Given the description of an element on the screen output the (x, y) to click on. 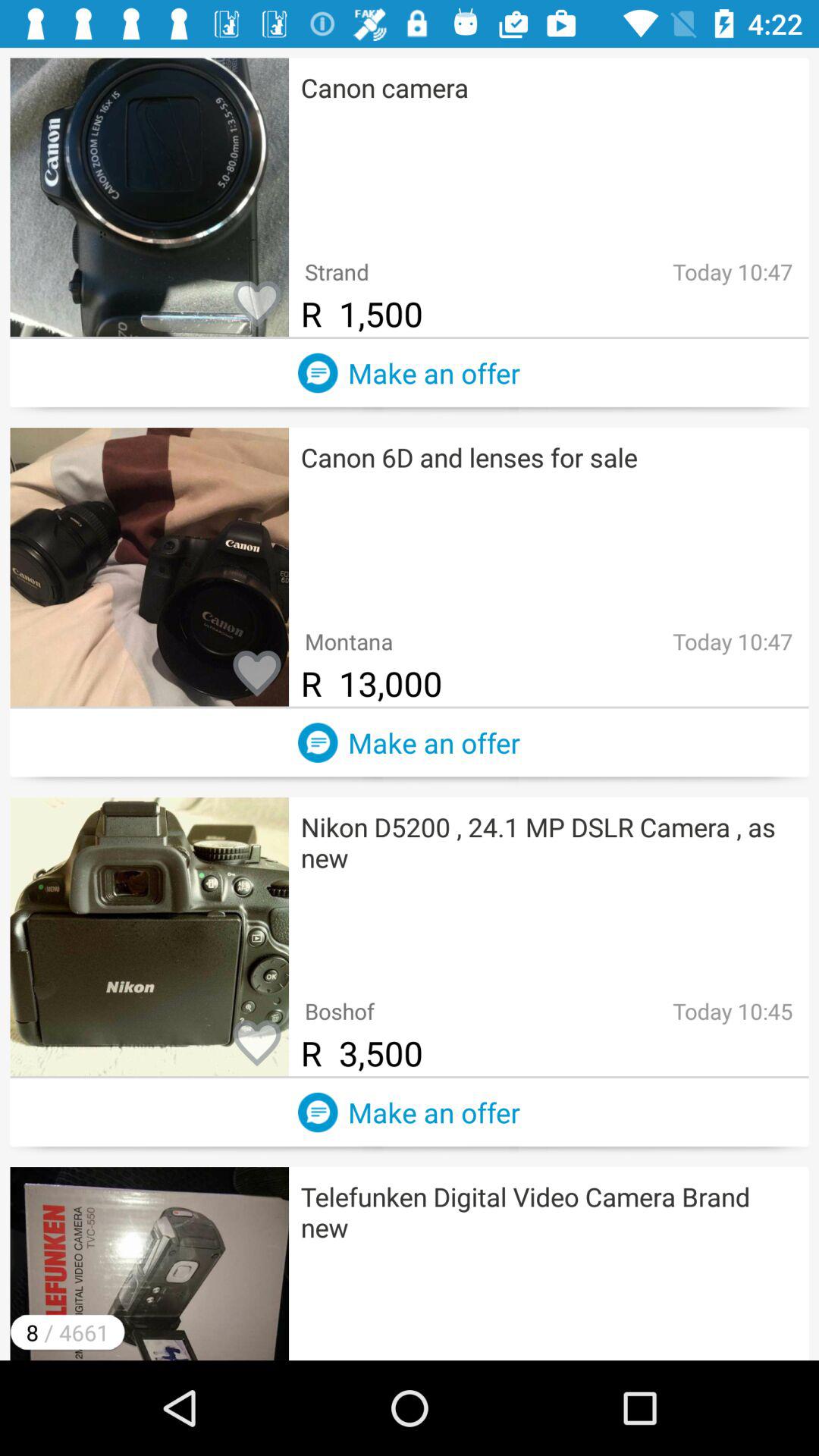
go to make an offer (317, 742)
